Given the description of an element on the screen output the (x, y) to click on. 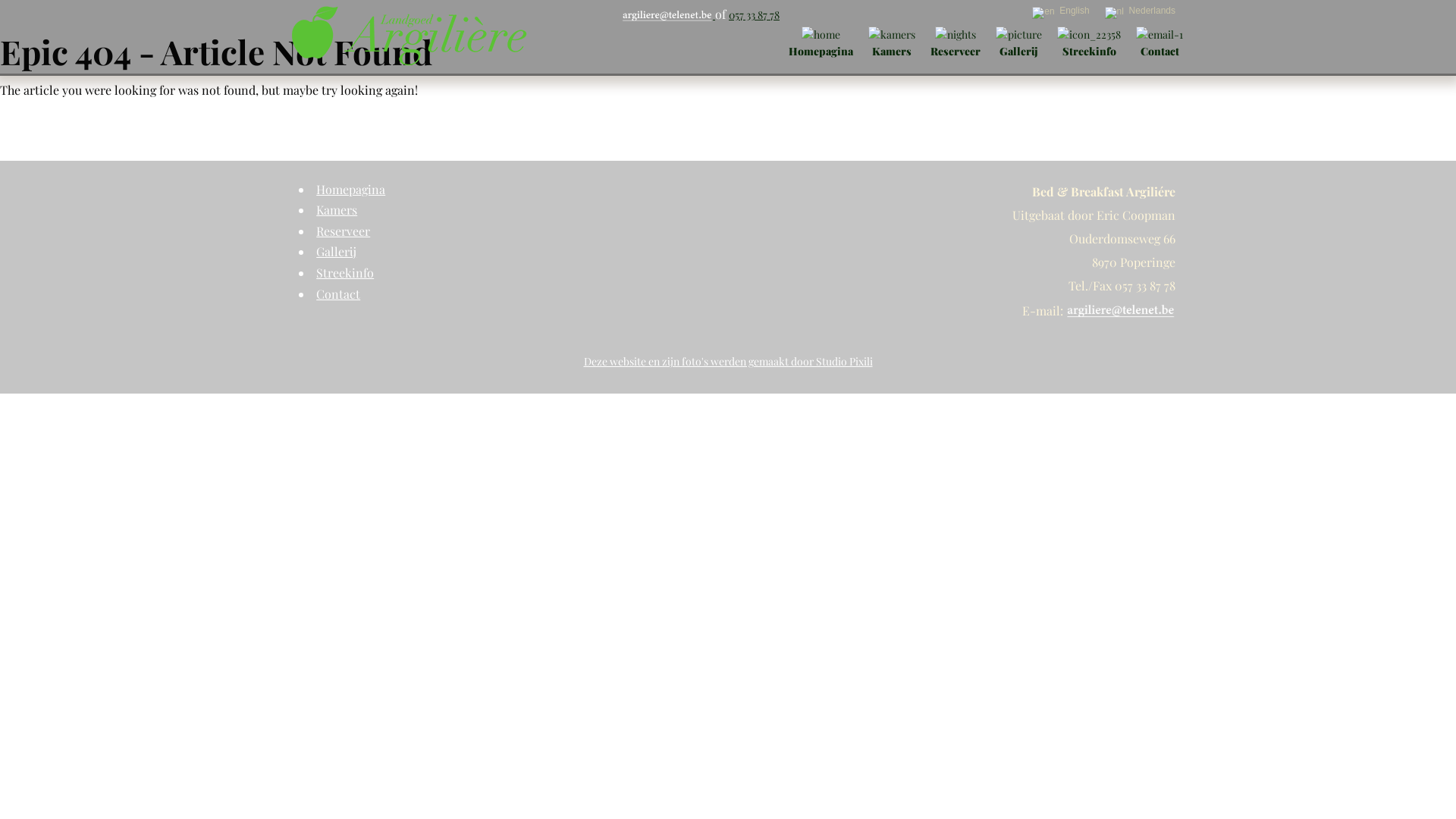
Streekinfo Element type: text (344, 272)
email-1 Element type: hover (1159, 34)
Homepagina Element type: text (350, 189)
Contact Element type: text (1159, 42)
Kamers Element type: text (336, 209)
nights Element type: hover (955, 34)
Gallerij Element type: text (1018, 42)
Streekinfo Element type: text (1088, 42)
Reserveer Element type: text (955, 42)
  English Element type: text (1060, 11)
Homepagina Element type: text (820, 42)
Contact Element type: text (338, 293)
Gallerij Element type: text (336, 251)
  Nederlands Element type: text (1140, 11)
home Element type: hover (820, 34)
057 33 87 78 Element type: text (753, 14)
Reserveer Element type: text (343, 230)
Kamers Element type: text (891, 42)
kamers Element type: hover (891, 34)
icon_22358 Element type: hover (1088, 34)
picture Element type: hover (1018, 34)
